Given the description of an element on the screen output the (x, y) to click on. 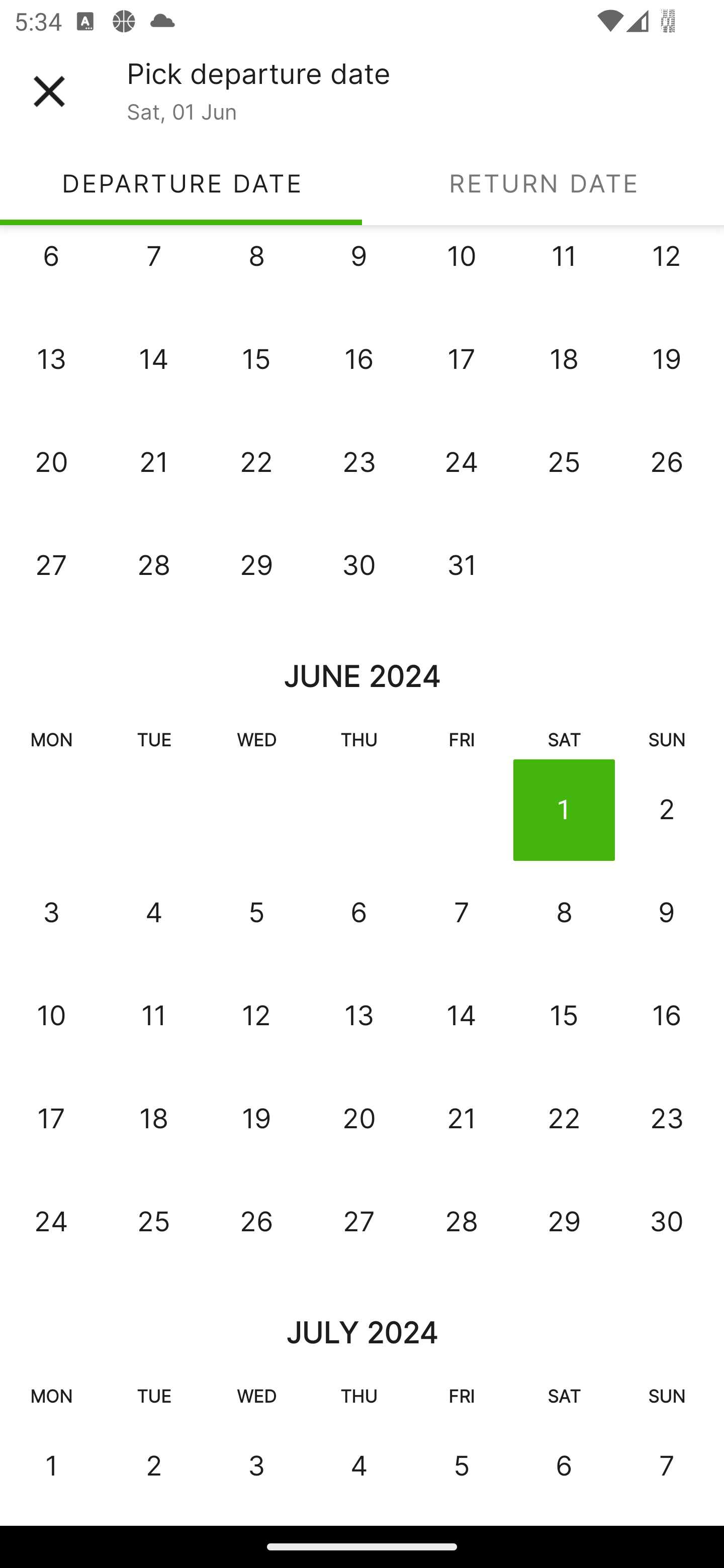
Return Date RETURN DATE (543, 183)
